Given the description of an element on the screen output the (x, y) to click on. 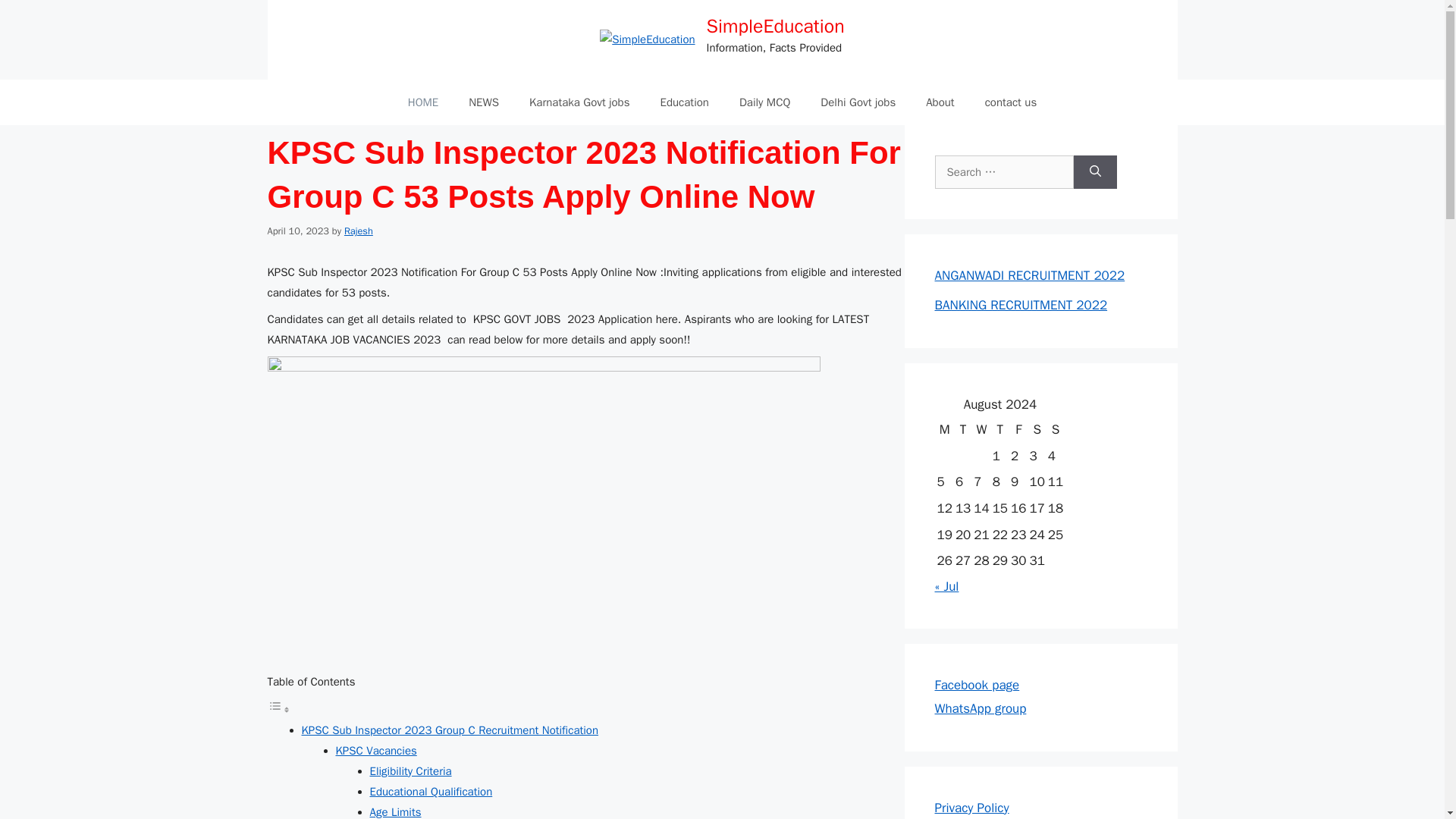
KPSC Sub Inspector 2023 Group C Recruitment Notification (449, 730)
HOME (422, 101)
KPSC Vacancies (375, 750)
Eligibility Criteria (410, 771)
Education (684, 101)
introducing ourself (940, 101)
Rajesh (357, 231)
Eligibility Criteria (410, 771)
About (940, 101)
SimpleEducation (775, 25)
